Given the description of an element on the screen output the (x, y) to click on. 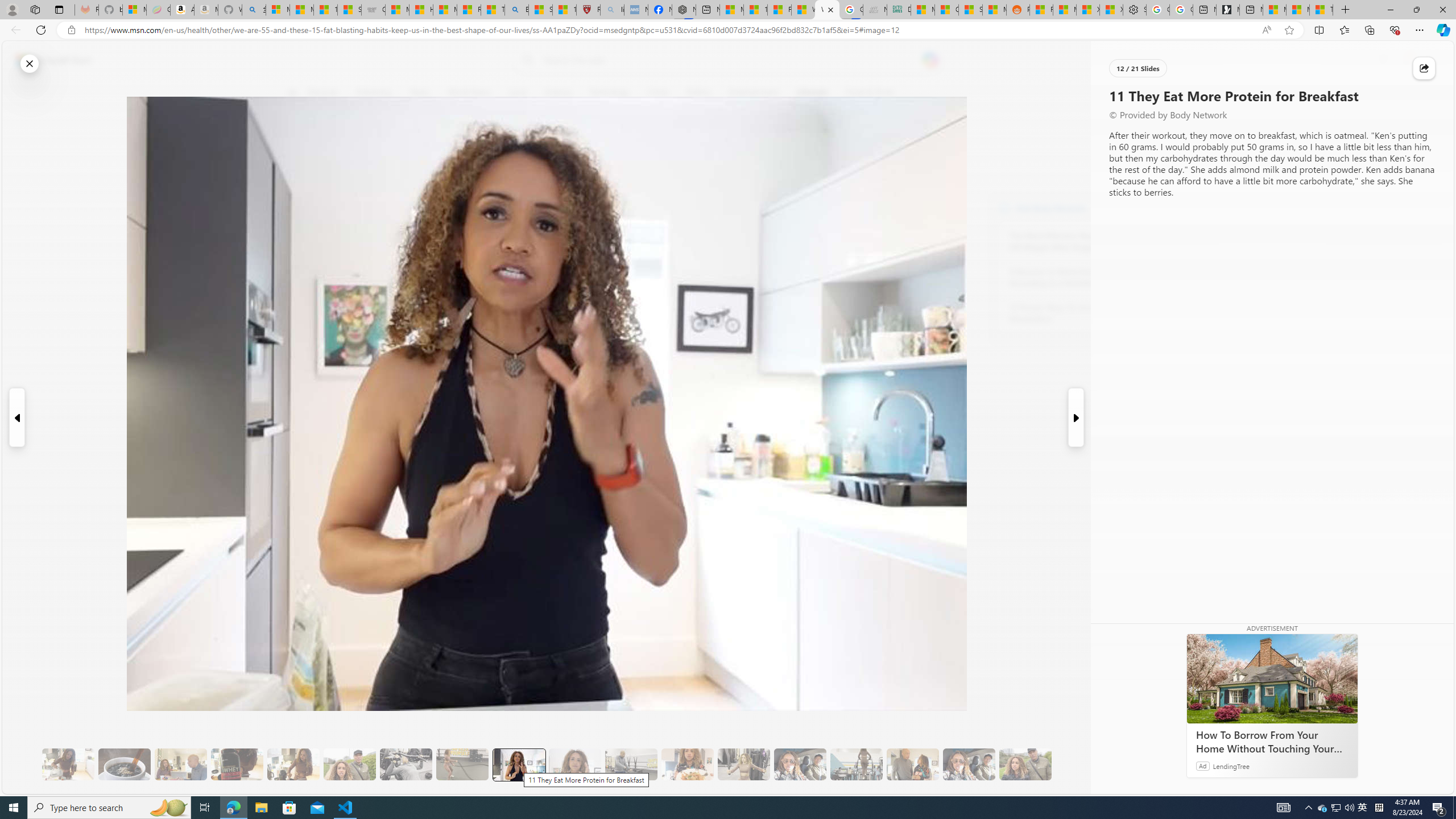
6 Since Eating More Protein Her Training Has Improved (237, 764)
9 They Do Bench Exercises (406, 764)
11 They Eat More Protein for Breakfast (519, 764)
Recipes - MSN (469, 9)
7 They Don't Skip Meals (293, 764)
